Given the description of an element on the screen output the (x, y) to click on. 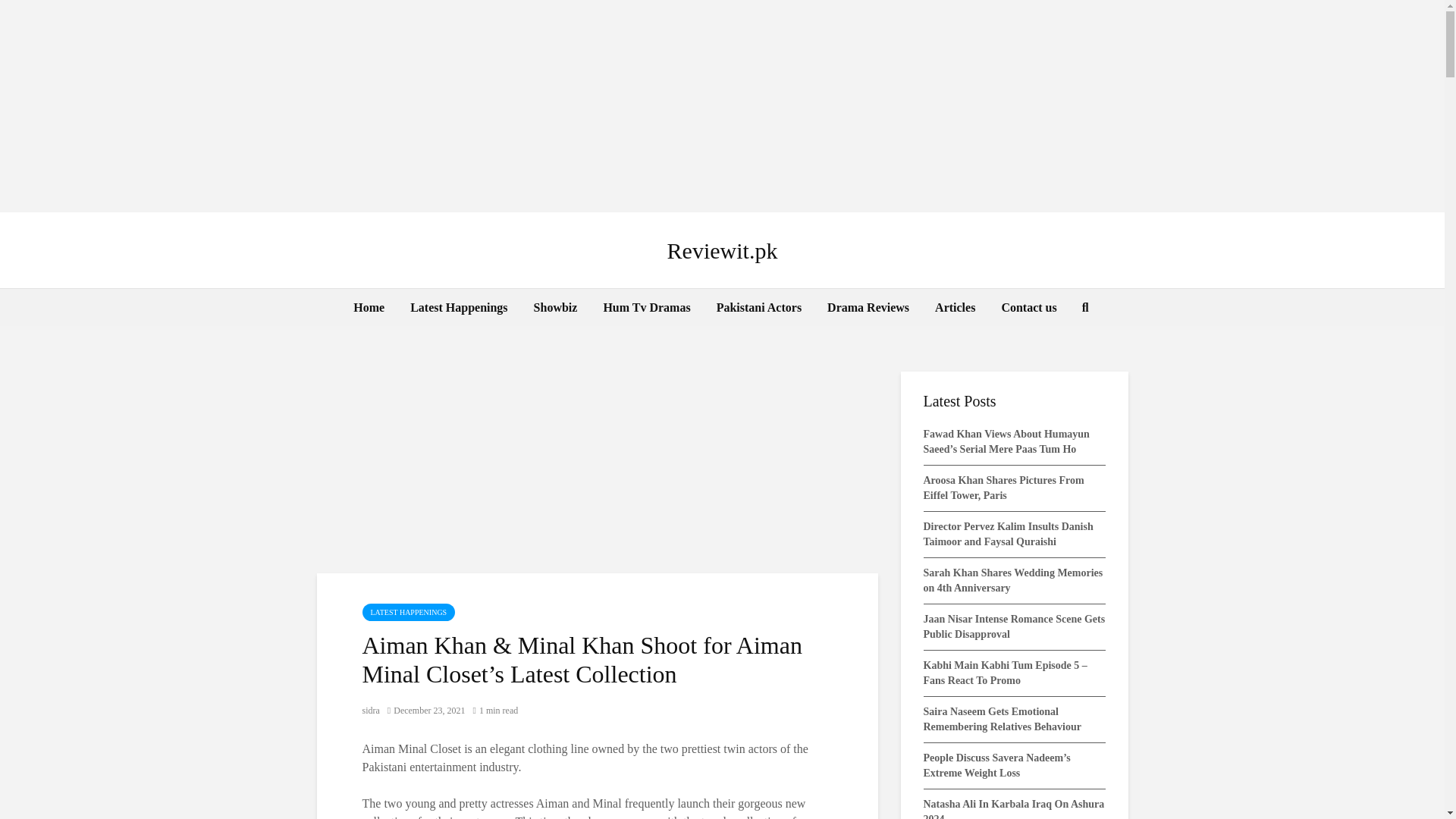
Contact us (1028, 307)
Reviewit.pk (721, 250)
Drama Reviews (867, 307)
Home (369, 307)
Showbiz (555, 307)
Articles (955, 307)
Advertisement (597, 460)
Hum Tv Dramas (646, 307)
sidra (371, 710)
LATEST HAPPENINGS (408, 611)
Latest Happenings (458, 307)
Pakistani Actors (758, 307)
Hum Tv Dramas (646, 307)
